Given the description of an element on the screen output the (x, y) to click on. 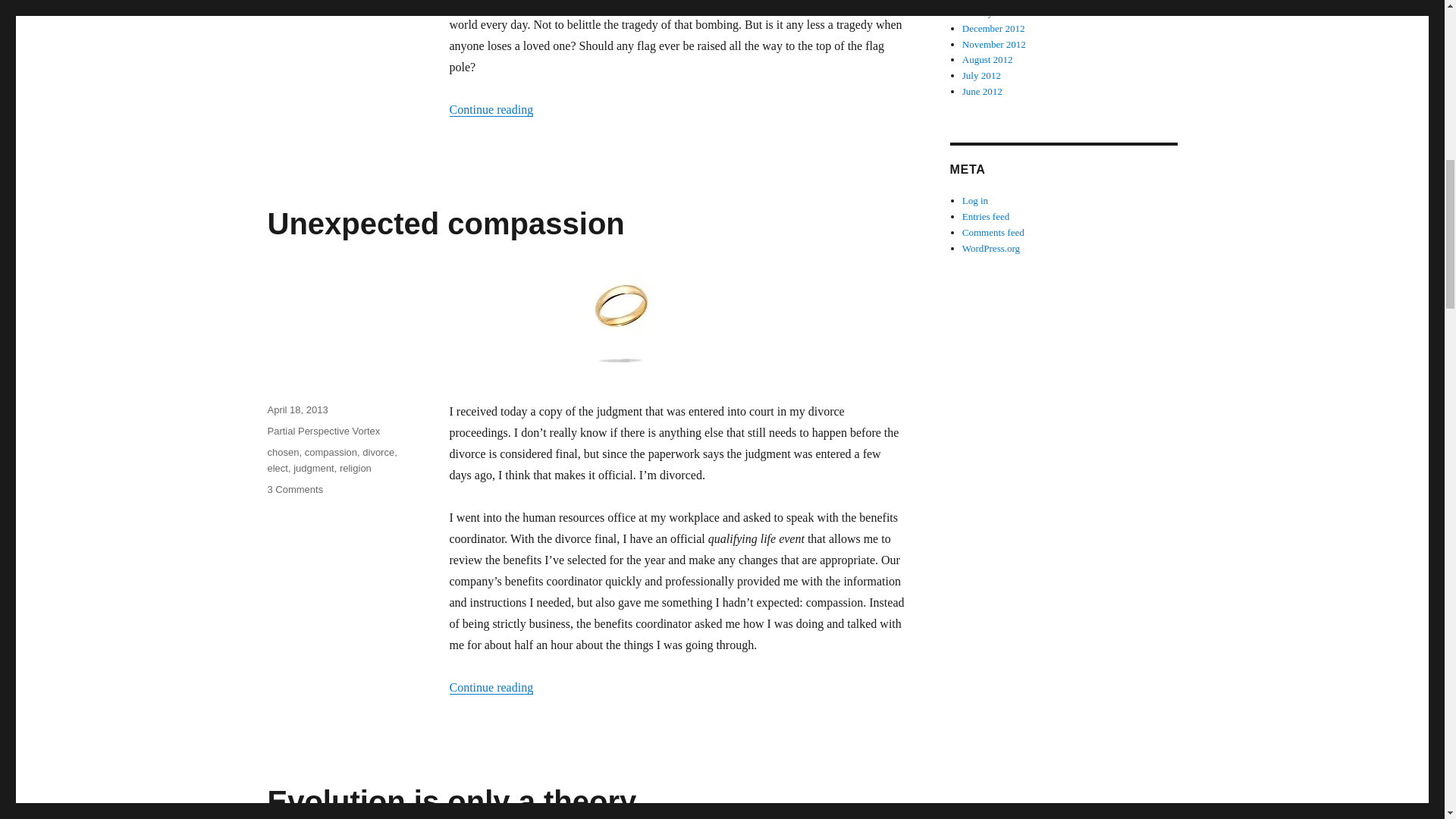
Unexpected compassion (445, 223)
Partial Perspective Vortex (323, 430)
judgment (313, 468)
Evolution is only a theory (451, 801)
divorce (378, 451)
April 18, 2013 (296, 409)
chosen (282, 451)
elect (276, 468)
compassion (330, 451)
religion (355, 468)
